Given the description of an element on the screen output the (x, y) to click on. 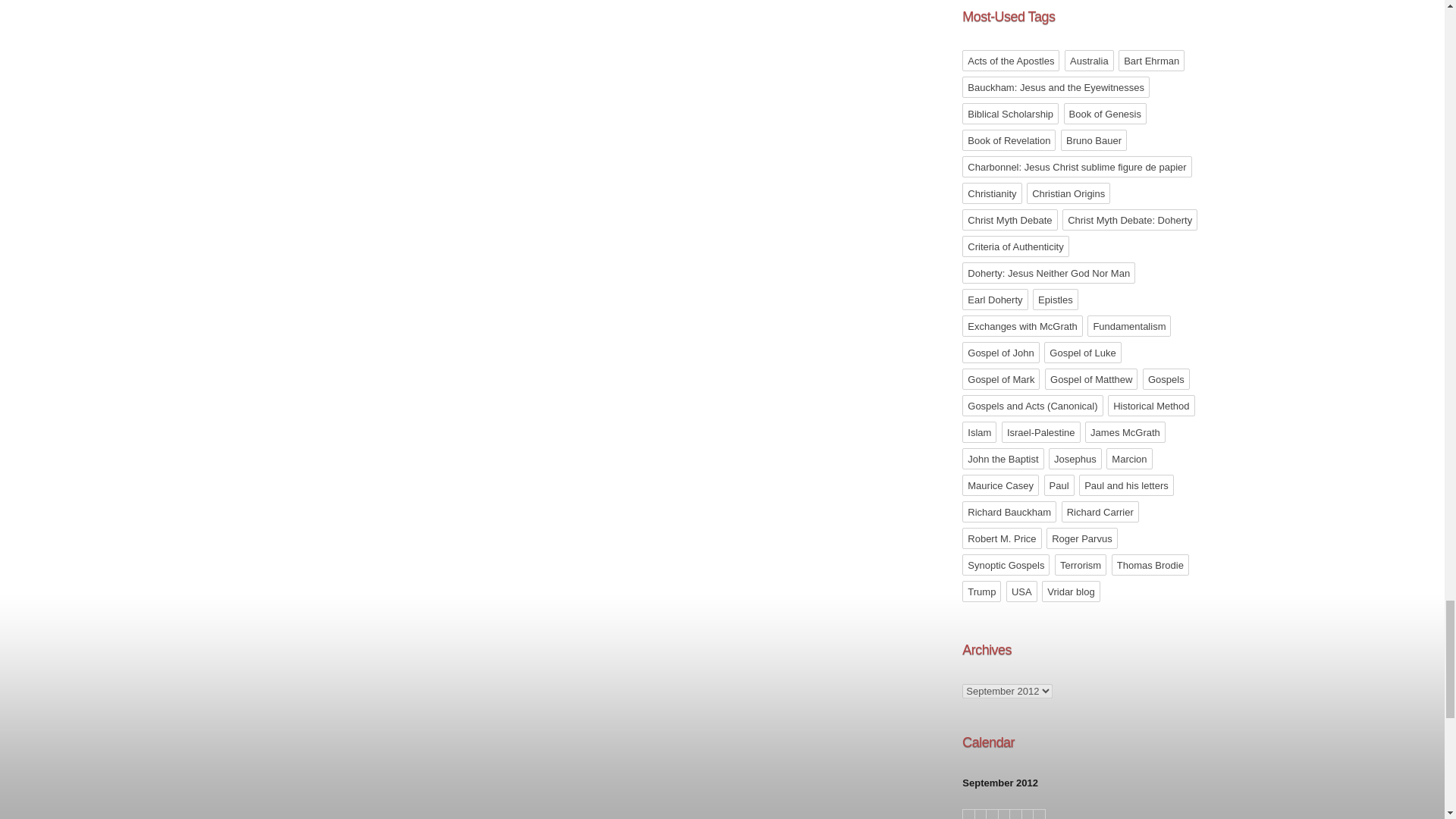
Sunday (968, 814)
Saturday (1039, 814)
Friday (1027, 814)
Wednesday (1004, 814)
Monday (981, 814)
Tuesday (992, 814)
Thursday (1016, 814)
